Given the description of an element on the screen output the (x, y) to click on. 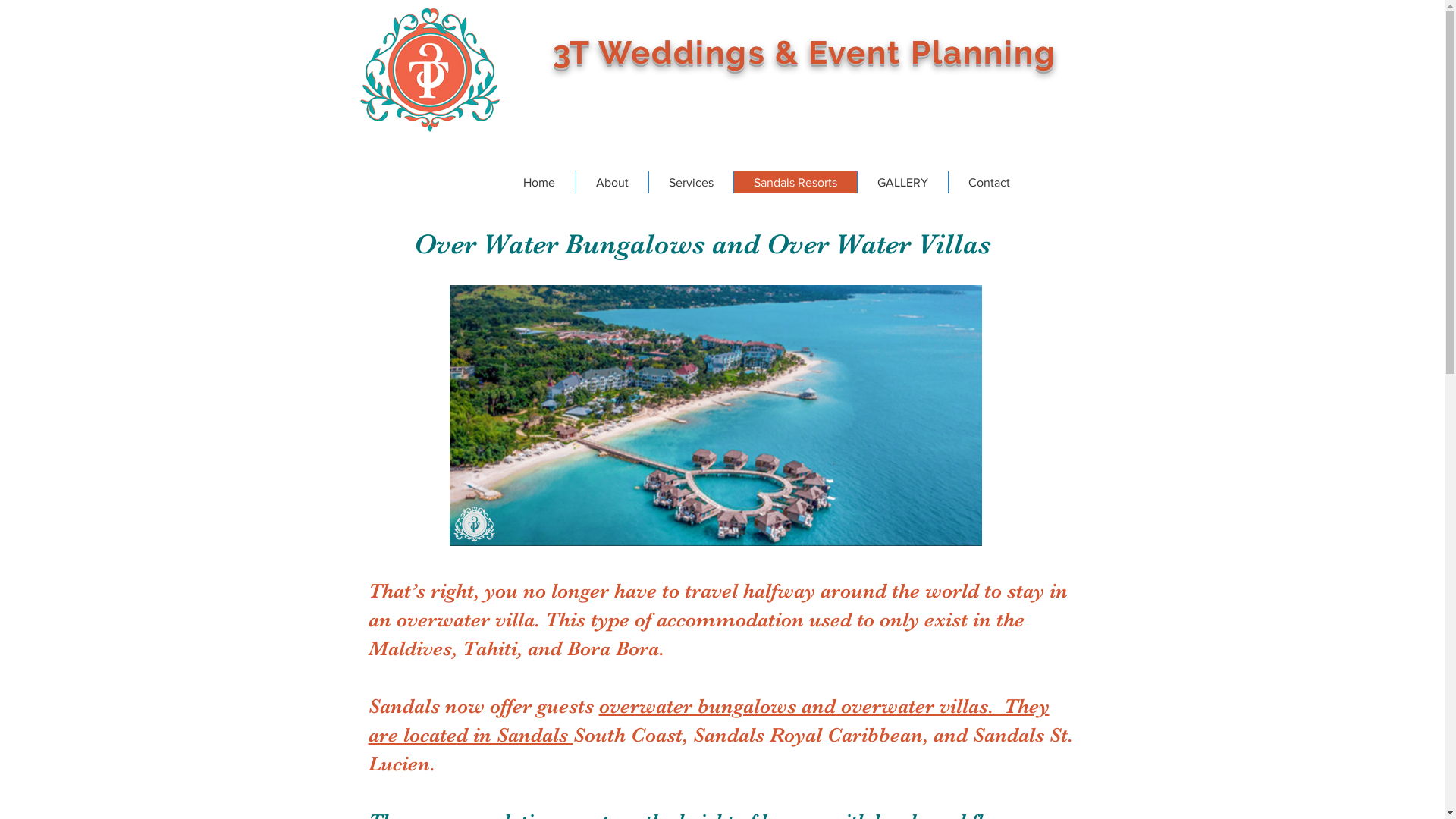
Sandals Resorts Element type: text (794, 182)
Contact Element type: text (988, 182)
About Element type: text (610, 182)
Services Element type: text (689, 182)
Home Element type: text (539, 182)
GALLERY Element type: text (901, 182)
